Given the description of an element on the screen output the (x, y) to click on. 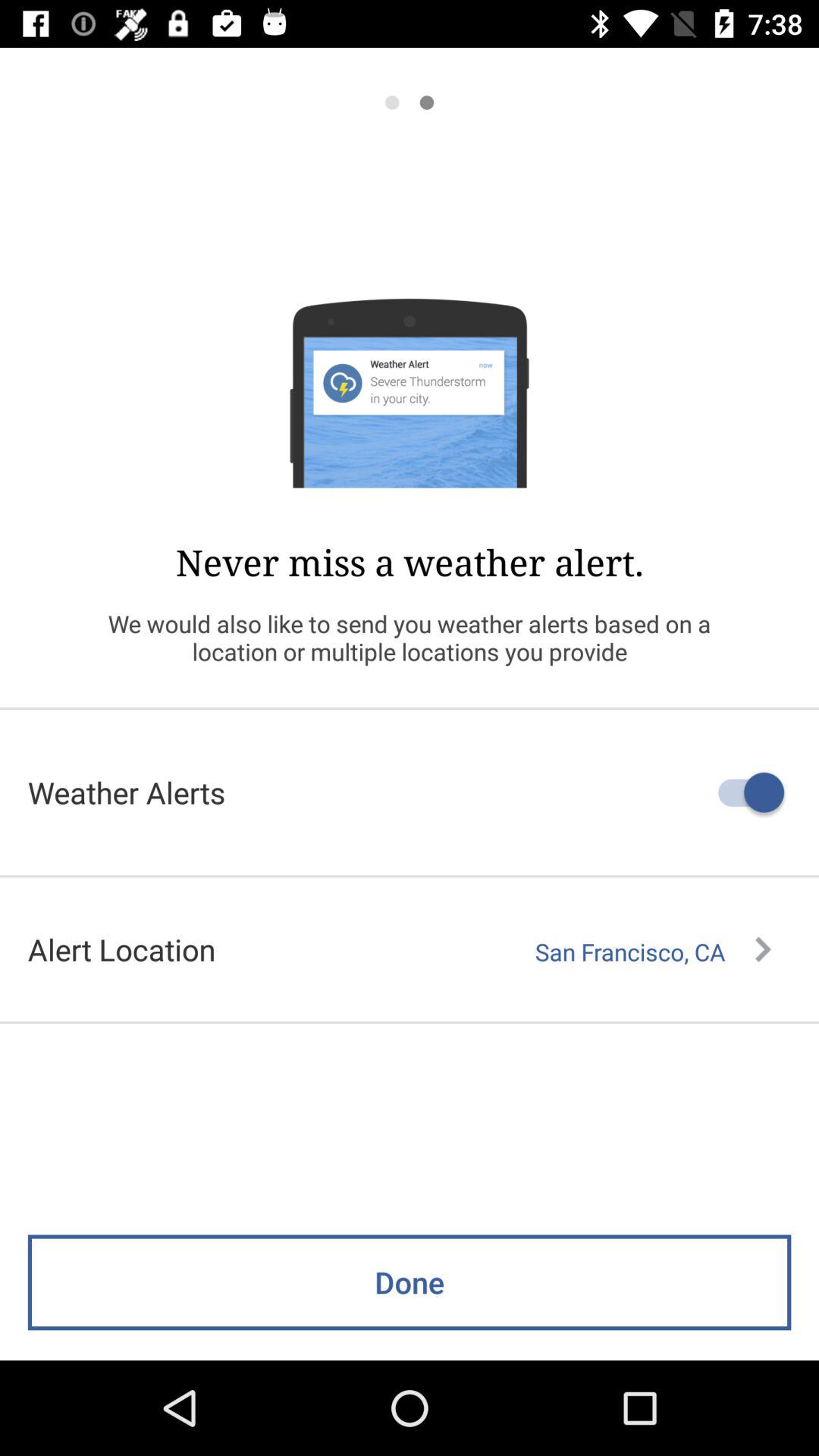
swipe until san francisco, ca item (653, 951)
